Given the description of an element on the screen output the (x, y) to click on. 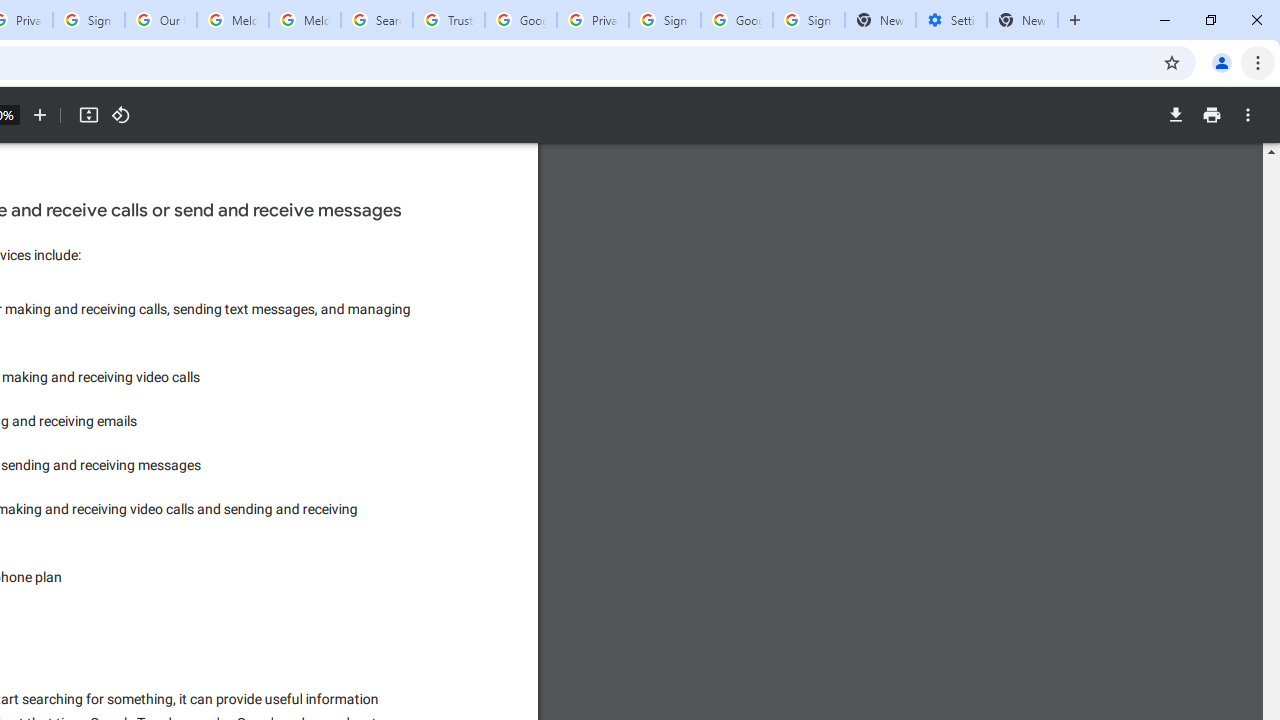
Search our Doodle Library Collection - Google Doodles (376, 20)
New Tab (1022, 20)
Trusted Information and Content - Google Safety Center (449, 20)
Google Ads - Sign in (520, 20)
